Given the description of an element on the screen output the (x, y) to click on. 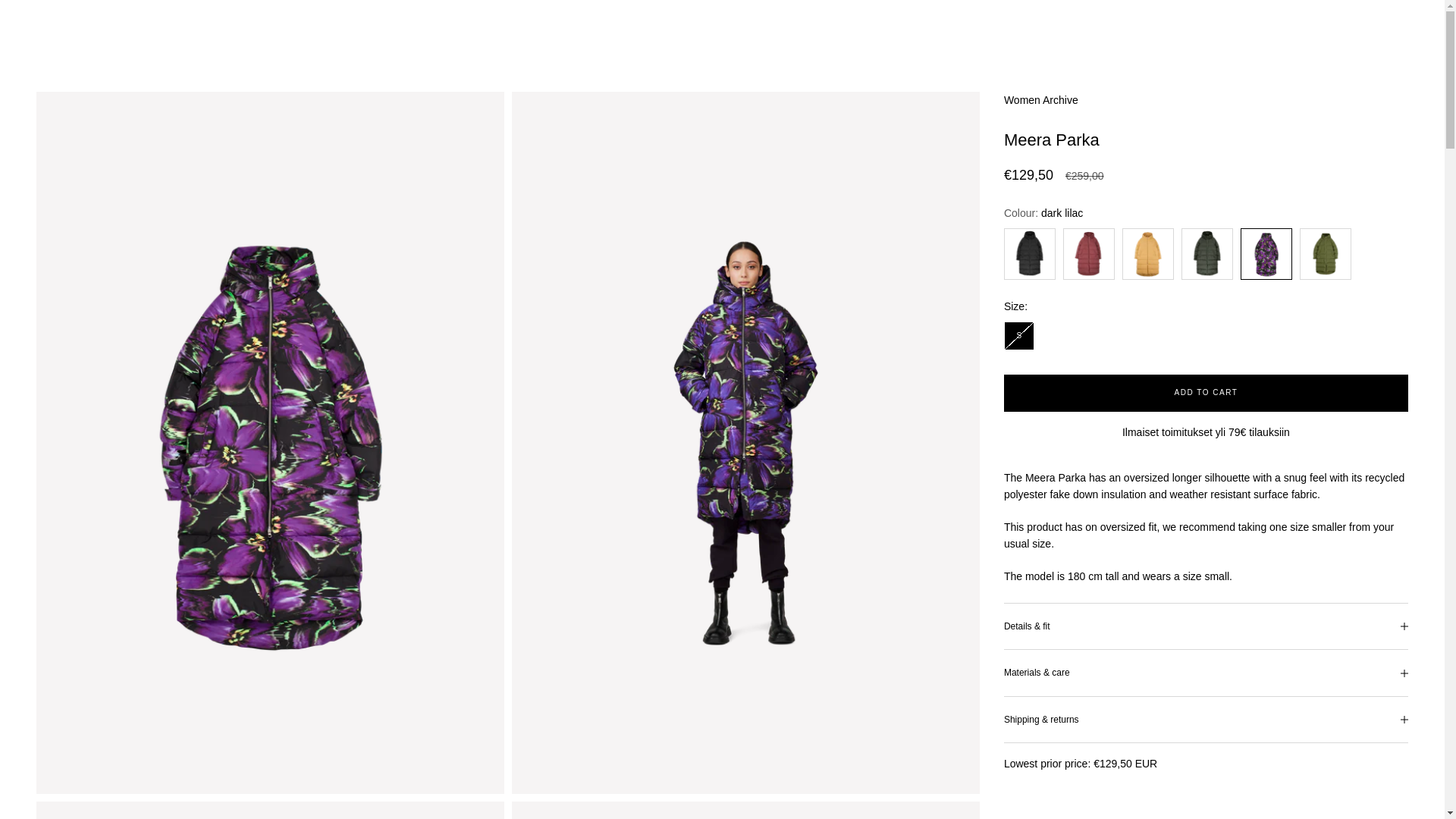
Open search (1375, 27)
LOGBOOK (1256, 27)
Kids (246, 27)
Men (126, 27)
OUTLET (350, 27)
Accessories (186, 27)
WOMEN (82, 27)
